Given the description of an element on the screen output the (x, y) to click on. 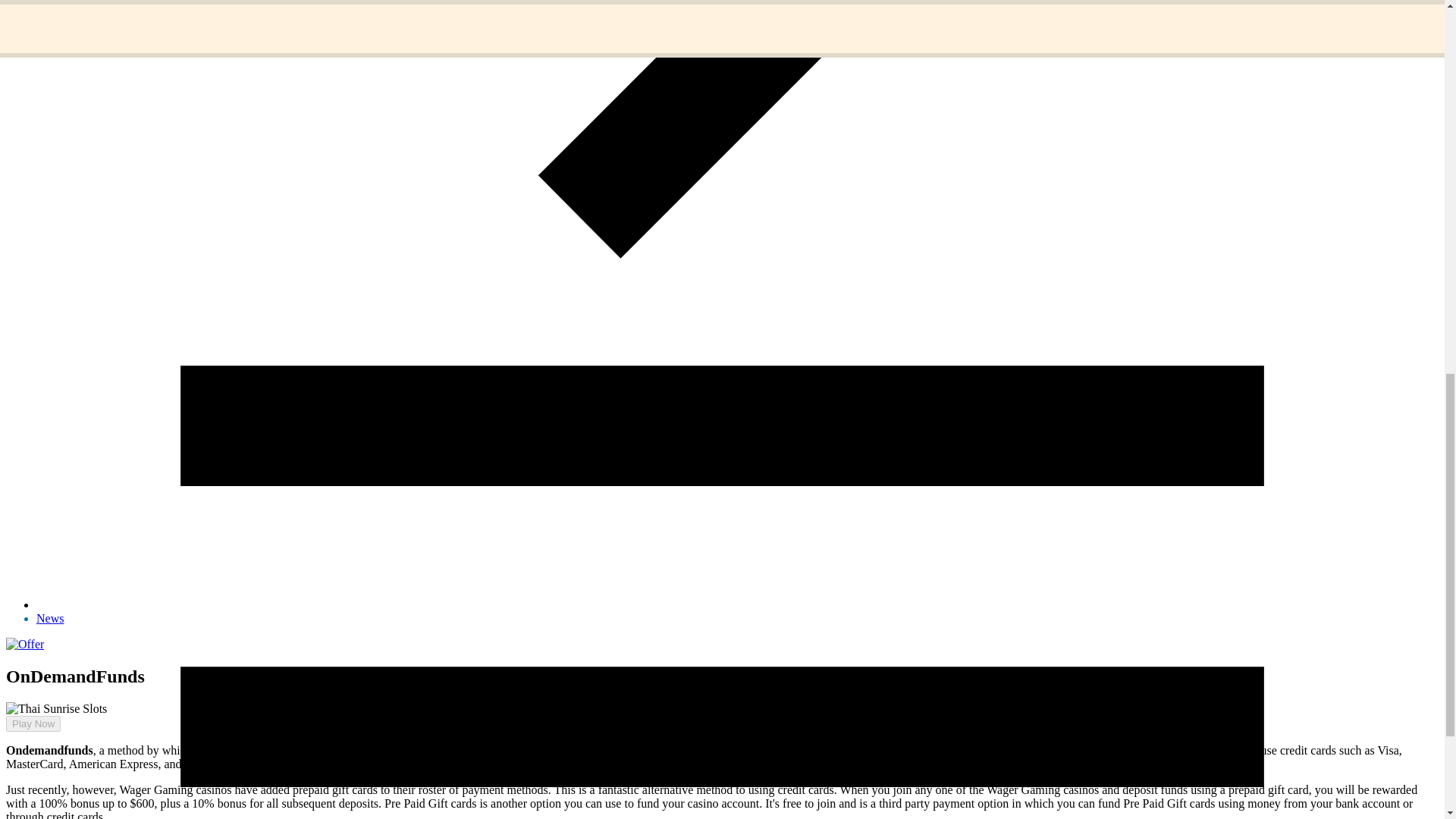
Play Now (33, 723)
many USA friendly methods (799, 749)
Play Now (27, 736)
News (50, 617)
